Given the description of an element on the screen output the (x, y) to click on. 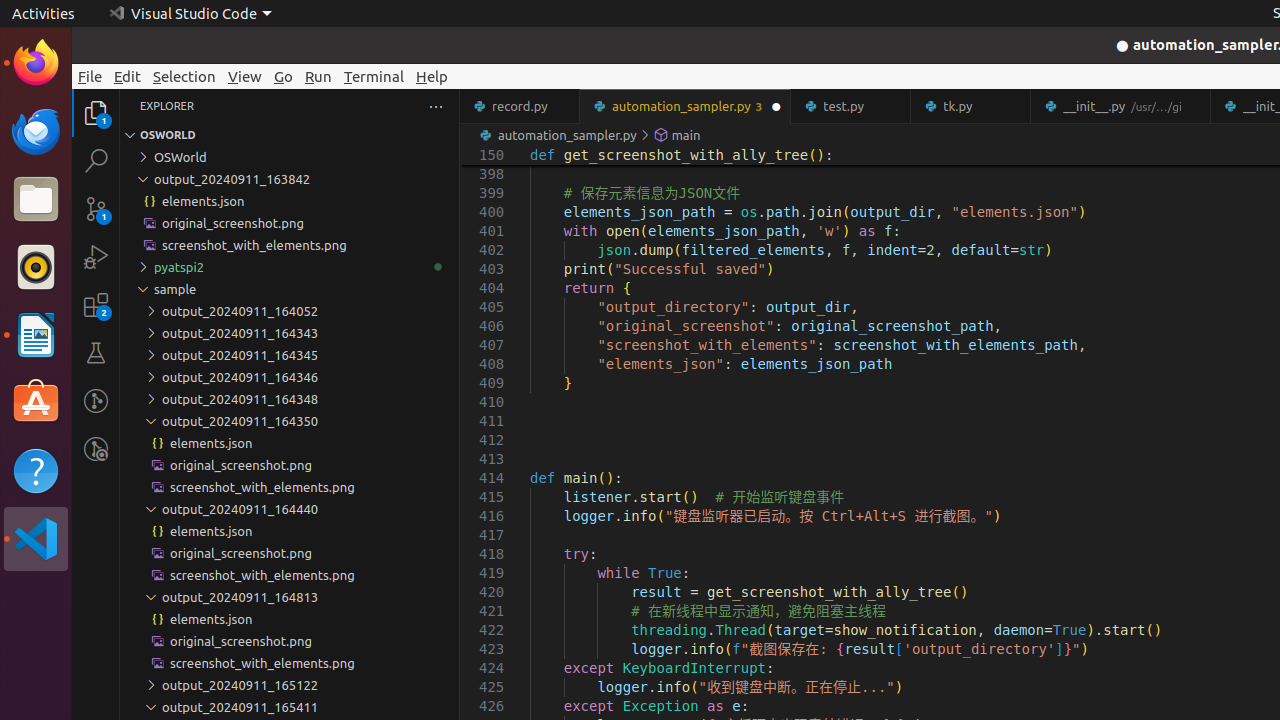
View Element type: push-button (245, 76)
Source Control (Ctrl+Shift+G G) - 1 pending changes Element type: page-tab (96, 208)
output_20240911_165122 Element type: tree-item (289, 685)
record.py Element type: page-tab (520, 106)
sample Element type: tree-item (289, 289)
